Given the description of an element on the screen output the (x, y) to click on. 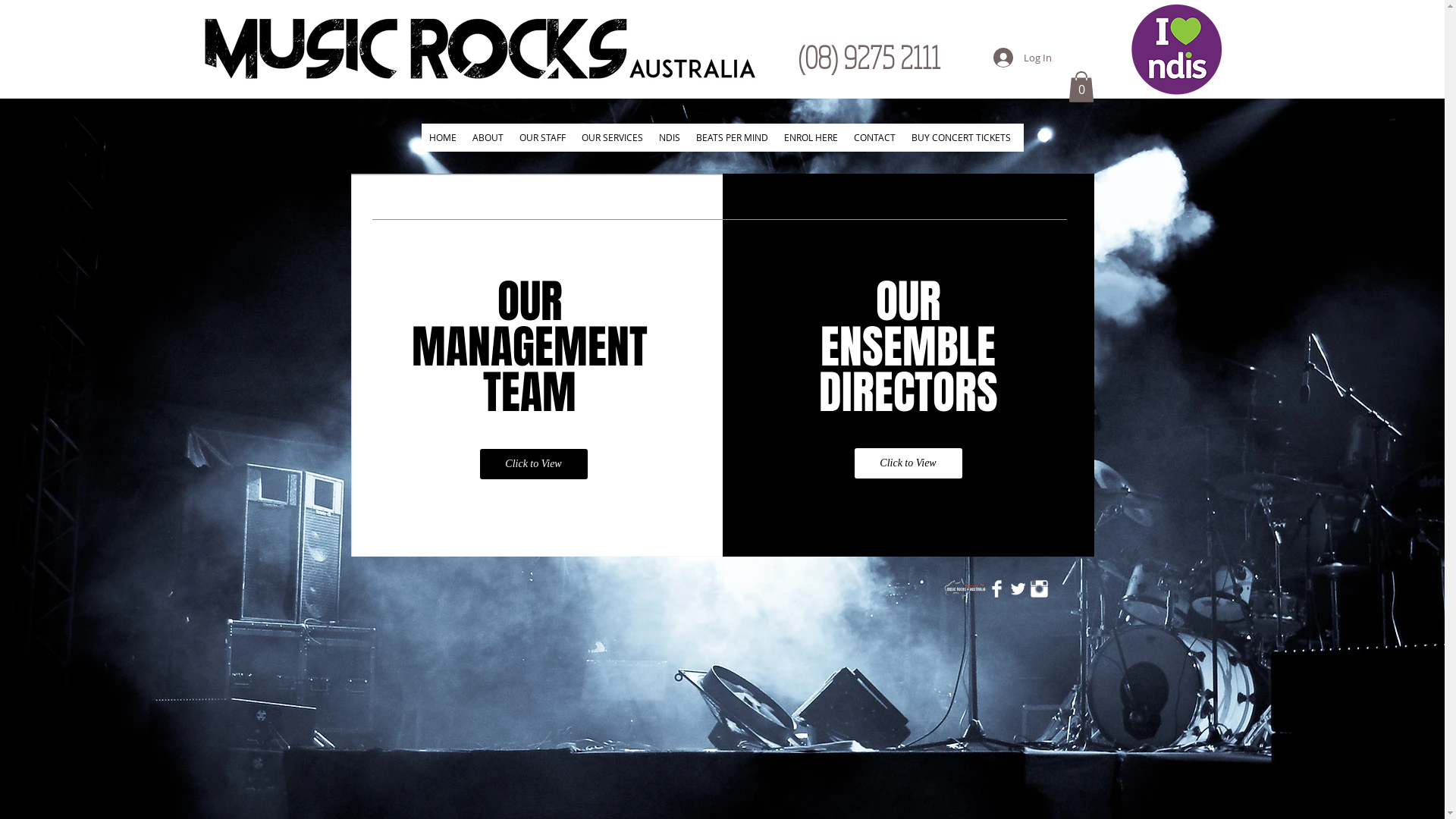
Click to View Element type: text (532, 463)
0 Element type: text (1080, 86)
Click to View Element type: text (907, 463)
NDIS Element type: text (668, 137)
HOME Element type: text (442, 137)
BEATS PER MIND Element type: text (731, 137)
OUR SERVICES Element type: text (611, 137)
OUR STAFF Element type: text (542, 137)
ABOUT Element type: text (487, 137)
ENROL HERE Element type: text (809, 137)
Log In Element type: text (1022, 57)
CONTACT Element type: text (873, 137)
BUY CONCERT TICKETS Element type: text (959, 137)
NDIS logo.png Element type: hover (1175, 49)
Music Rocks Logo (Clear Background).png Element type: hover (963, 589)
